Given the description of an element on the screen output the (x, y) to click on. 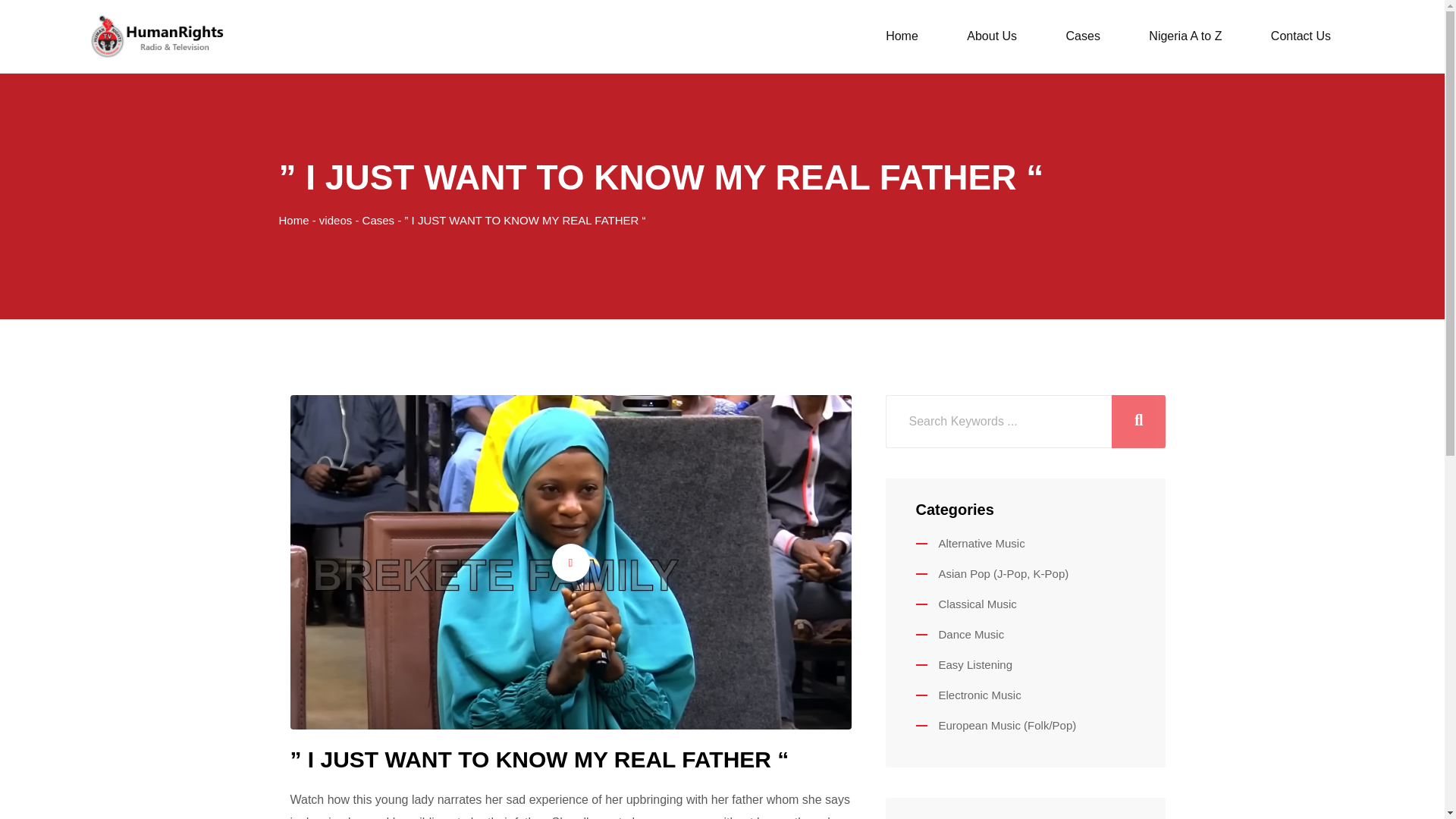
Cases (378, 219)
Dance Music (959, 634)
videos (335, 219)
Go to the Cases Video Category archives. (378, 219)
Nigeria A to Z (1184, 36)
Electronic Music (968, 694)
Home (901, 36)
Contact Us (1300, 36)
Go to videos. (335, 219)
Classical Music (965, 603)
Easy Listening (964, 664)
Home (293, 219)
About Us (991, 36)
Cases (1082, 36)
Go to Human Rights Radio TV. (293, 219)
